Given the description of an element on the screen output the (x, y) to click on. 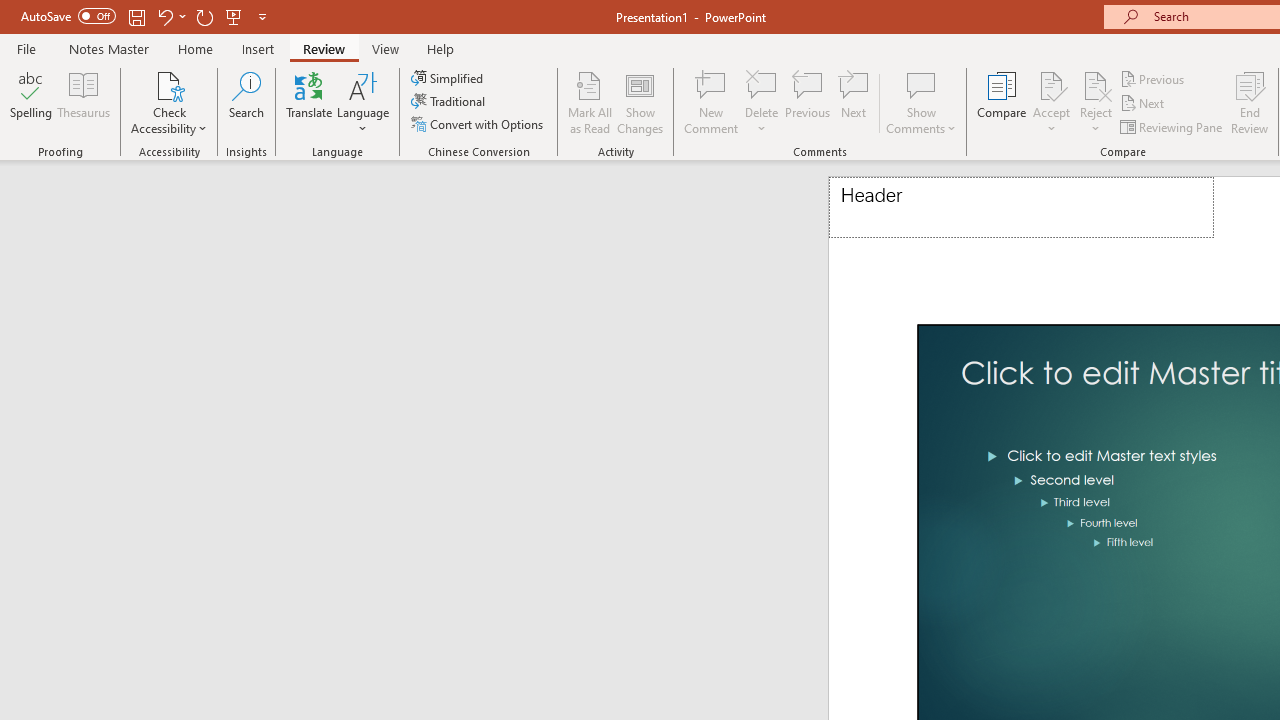
Previous (1153, 78)
Header (1021, 207)
Notes Master (108, 48)
Language (363, 102)
Accept Change (1051, 84)
Next (1144, 103)
